Given the description of an element on the screen output the (x, y) to click on. 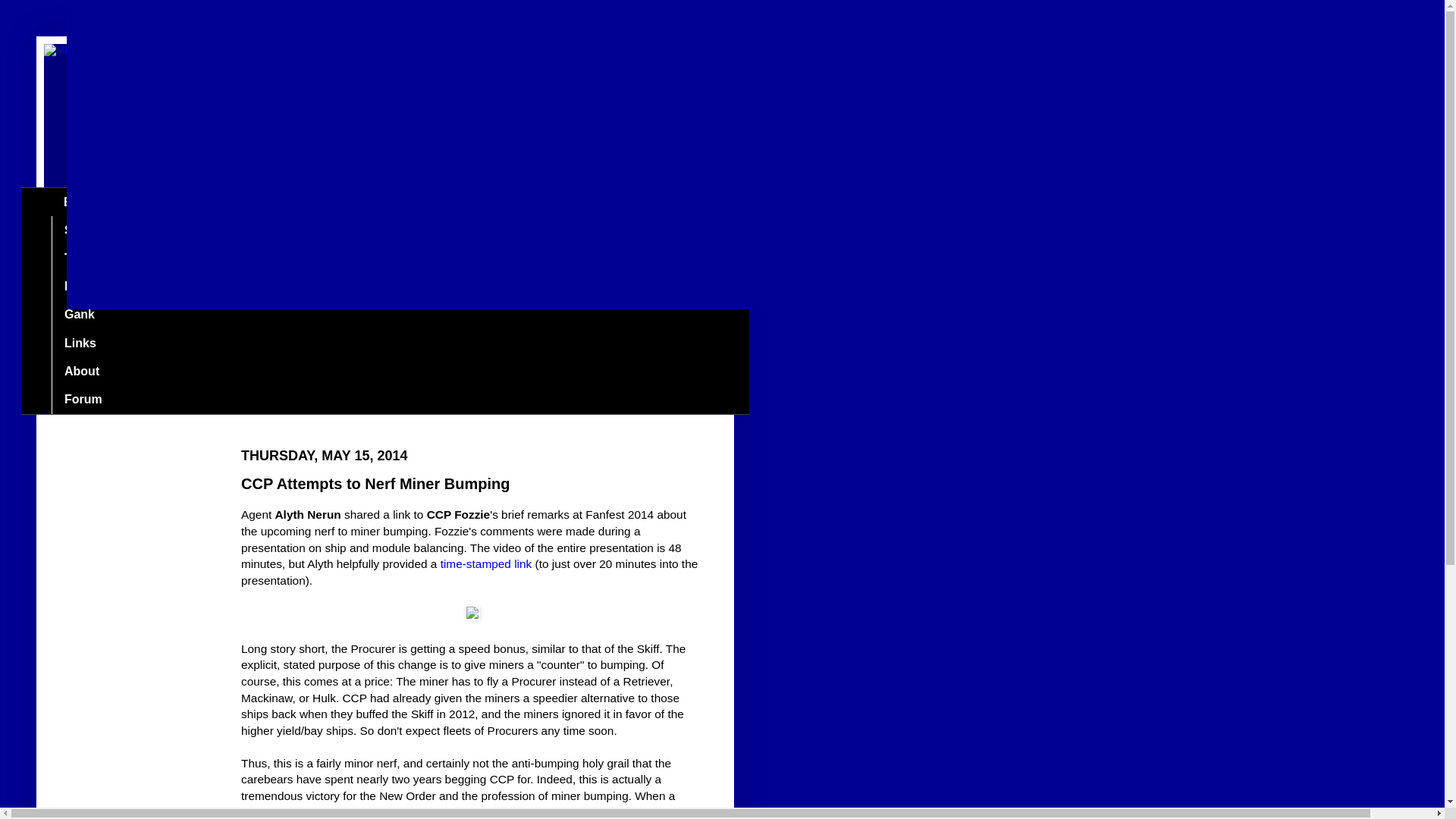
Become an Agent (114, 286)
time-stamped link (486, 563)
Forum (82, 398)
The Code (91, 257)
BLOG (80, 202)
Shareholders (102, 230)
Links (78, 343)
About (81, 370)
Gank (78, 315)
